Given the description of an element on the screen output the (x, y) to click on. 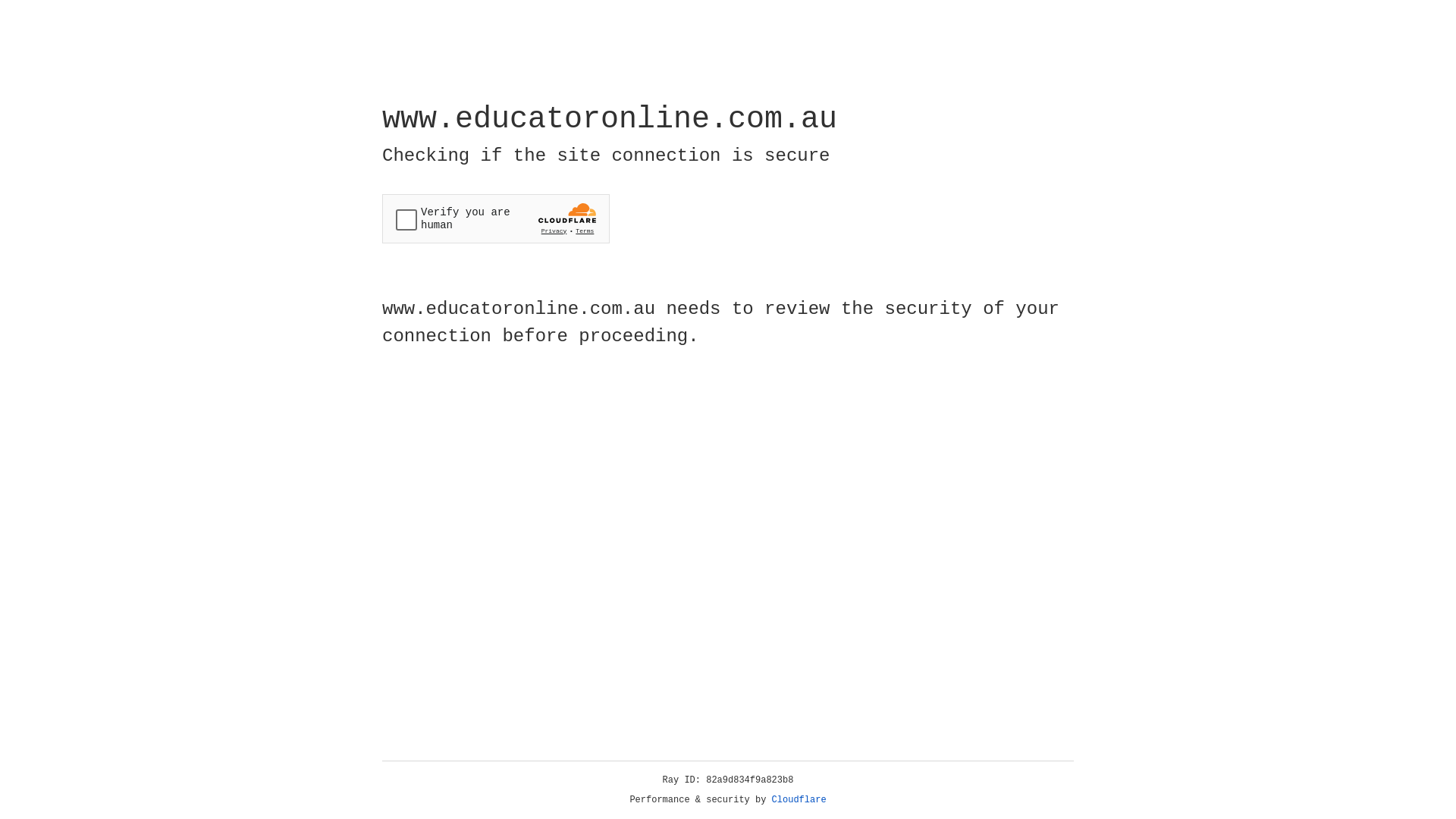
Widget containing a Cloudflare security challenge Element type: hover (495, 218)
Cloudflare Element type: text (798, 799)
